Given the description of an element on the screen output the (x, y) to click on. 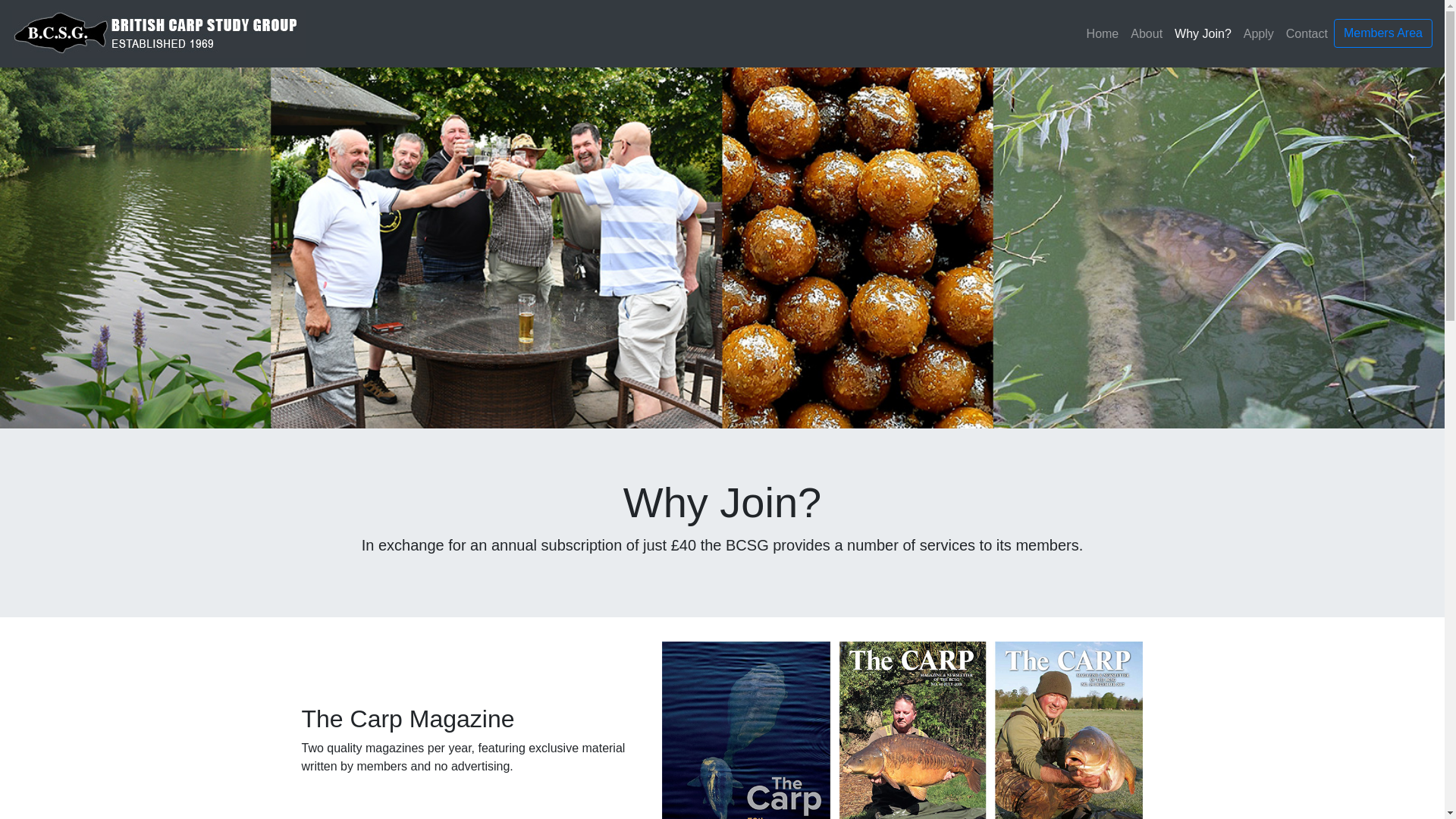
Members Area (1382, 32)
Apply (1258, 33)
About (1146, 33)
Contact (1306, 33)
Why Join? (1203, 33)
